Given the description of an element on the screen output the (x, y) to click on. 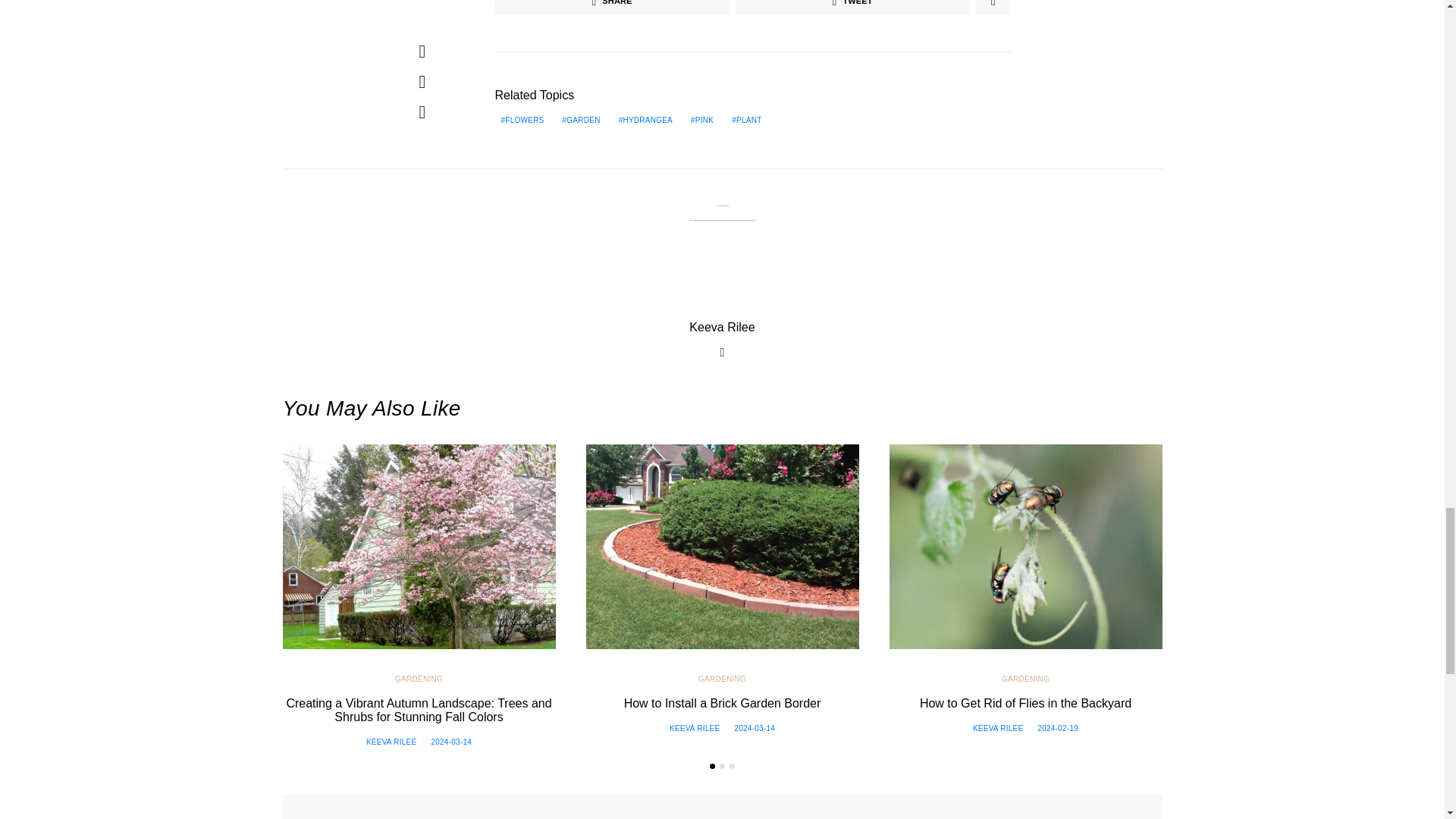
View all posts by Keeva Rilee (694, 727)
View all posts by Keeva Rilee (391, 741)
View all posts by Keeva Rilee (997, 727)
